Given the description of an element on the screen output the (x, y) to click on. 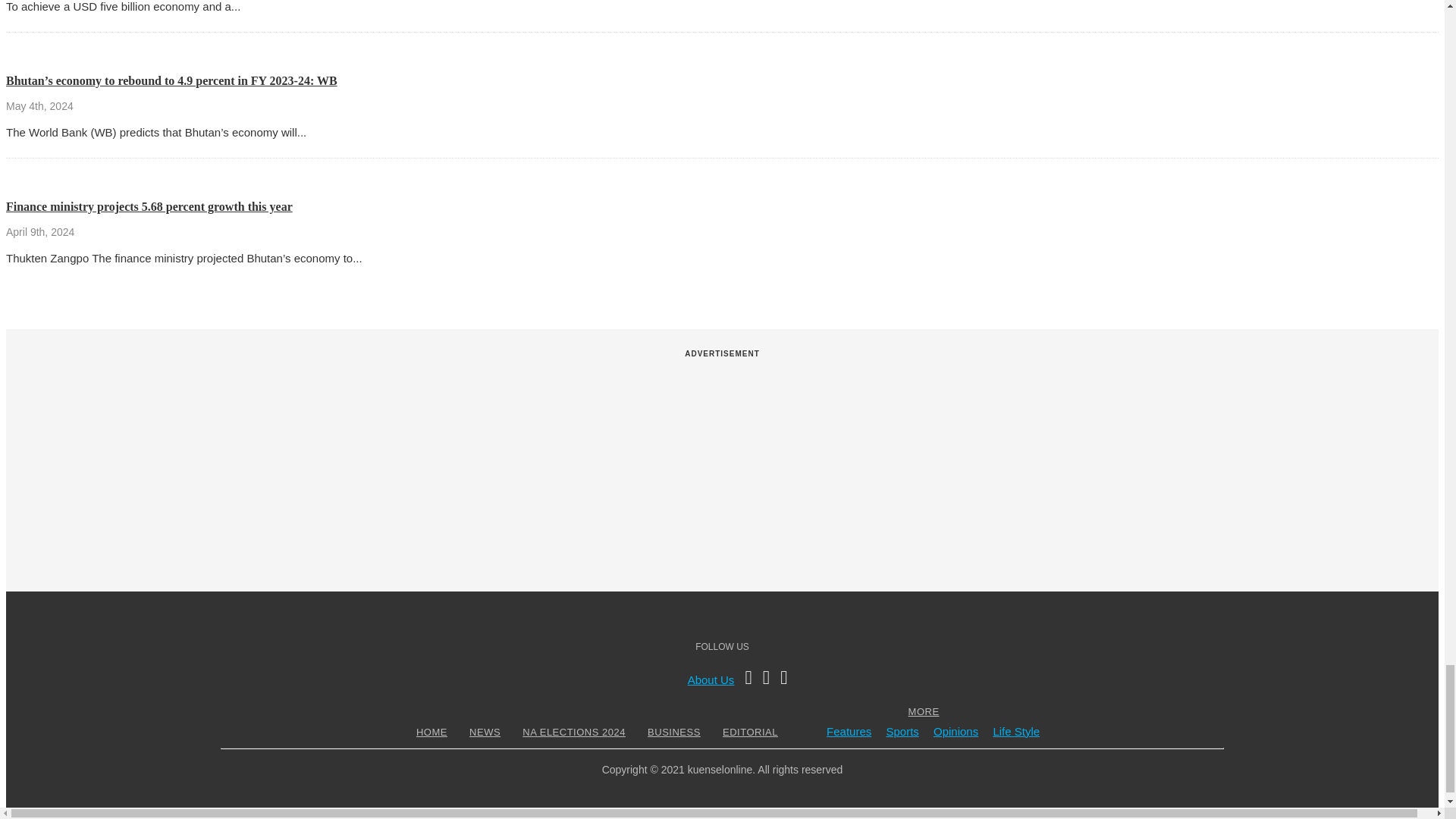
NA ELECTIONS 2024 (573, 731)
MORE (923, 711)
NEWS (484, 731)
About Us (711, 679)
BUSINESS (673, 731)
HOME (431, 731)
EDITORIAL (750, 731)
Finance ministry projects 5.68 percent growth this year (148, 205)
